Given the description of an element on the screen output the (x, y) to click on. 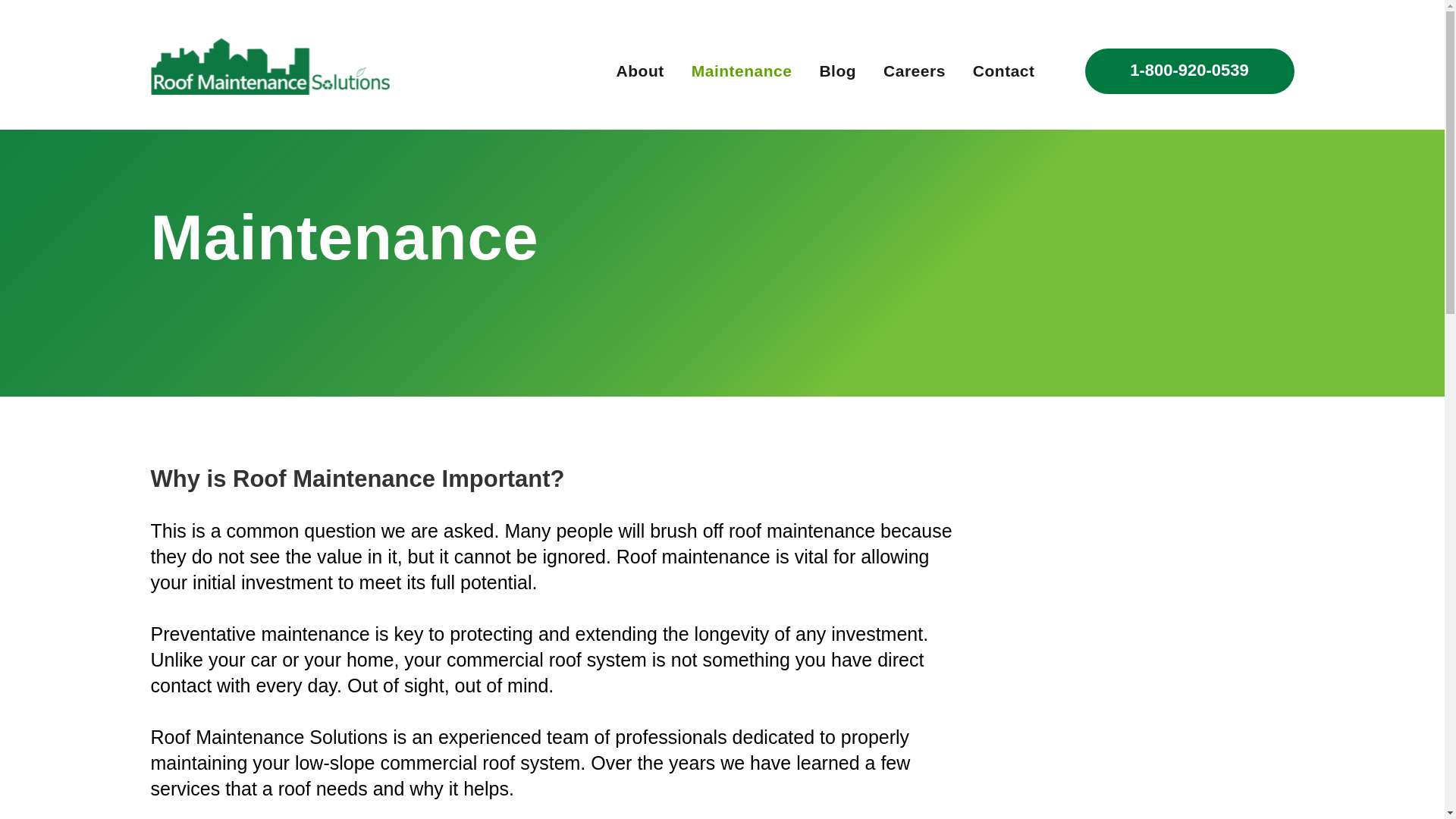
Blog (837, 70)
About (639, 70)
Careers (913, 70)
Contact (1003, 70)
Maintenance (741, 70)
1-800-920-0539 (1189, 71)
